Given the description of an element on the screen output the (x, y) to click on. 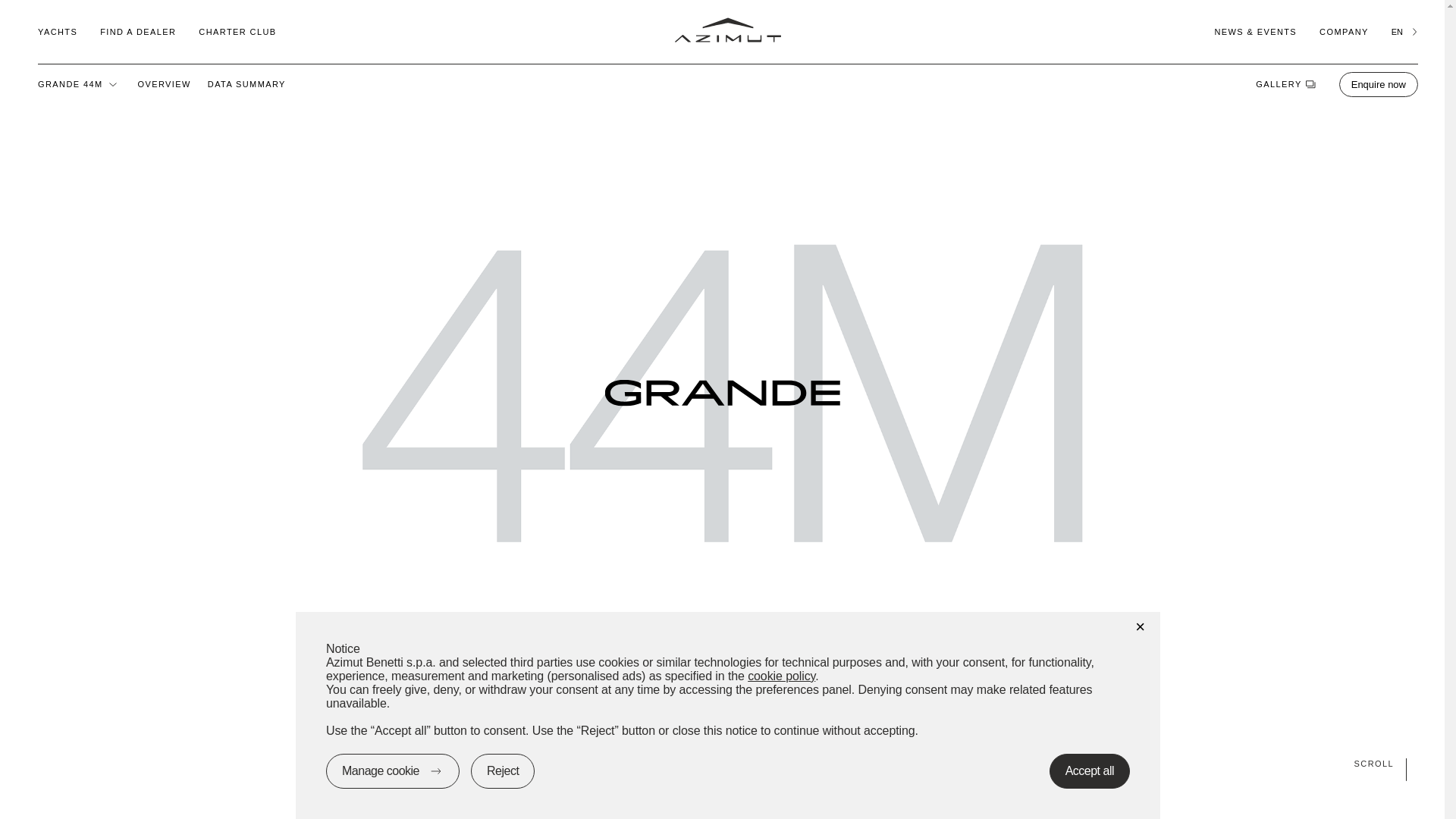
Enquire now (1378, 83)
EN (1404, 31)
YACHTS (57, 31)
FIND A DEALER (138, 31)
COMPANY (1343, 31)
CHARTER CLUB (237, 31)
SCROLL (722, 763)
DATA SUMMARY (246, 83)
OVERVIEW (164, 83)
